Given the description of an element on the screen output the (x, y) to click on. 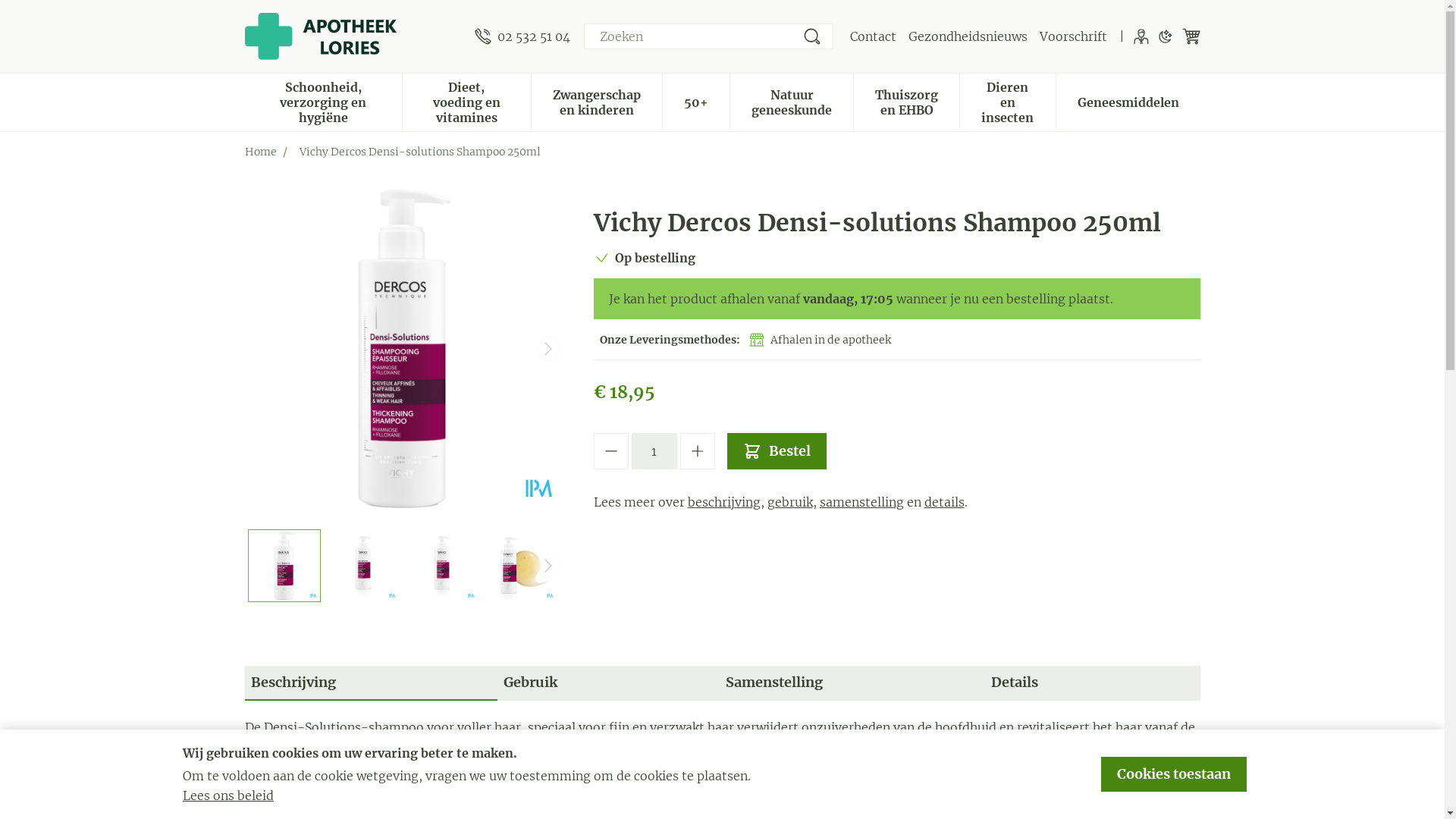
Dieren en insecten Element type: text (1007, 100)
Contact Element type: text (872, 35)
Voorschrift Element type: text (1072, 35)
Vichy Dercos Densi-solutions Shampoo 250ml 1 Element type: hover (363, 565)
50+ Element type: text (695, 100)
Thuiszorg en EHBO Element type: text (906, 100)
Apotheek Lories Element type: hover (352, 36)
Vichy Dercos Densi-solutions Shampoo 250ml Element type: hover (403, 348)
Klant menu Element type: text (1140, 35)
Geneesmiddelen Element type: text (1127, 100)
Vichy Dercos Densi-solutions Shampoo 250ml 3 Element type: hover (520, 565)
Apotheek Lories Element type: hover (319, 36)
Lees ons beleid Element type: text (227, 795)
Dieet, voeding en vitamines Element type: text (466, 100)
Donkere modus Element type: text (1164, 35)
Zoeken Element type: text (811, 36)
Natuur geneeskunde Element type: text (791, 100)
02 532 51 04 Element type: text (522, 36)
Winkelwagen Element type: text (1190, 36)
Bestel Element type: text (775, 451)
Home Element type: text (260, 151)
Vichy Dercos Densi-solutions Shampoo 250ml Element type: hover (284, 565)
Vichy Dercos Densi-solutions Shampoo 250ml 2 Element type: hover (441, 565)
Cookies toestaan Element type: text (1173, 773)
Gezondheidsnieuws Element type: text (967, 35)
Zwangerschap en kinderen Element type: text (596, 100)
